Given the description of an element on the screen output the (x, y) to click on. 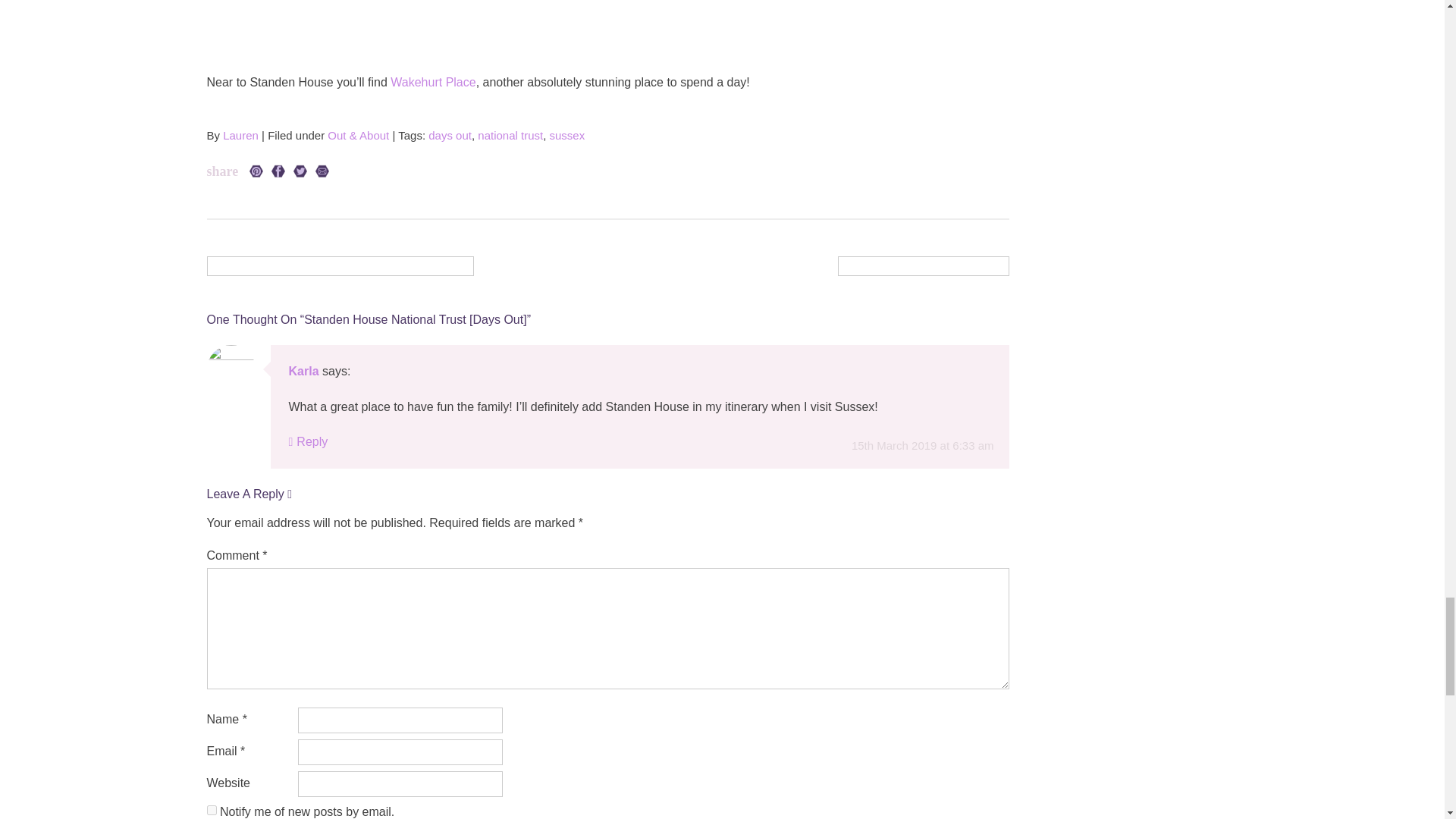
Wakehurt Place (433, 82)
Share by Email (322, 171)
Lauren (240, 134)
subscribe (210, 809)
Standen House, National Trust Sussex (607, 10)
